Given the description of an element on the screen output the (x, y) to click on. 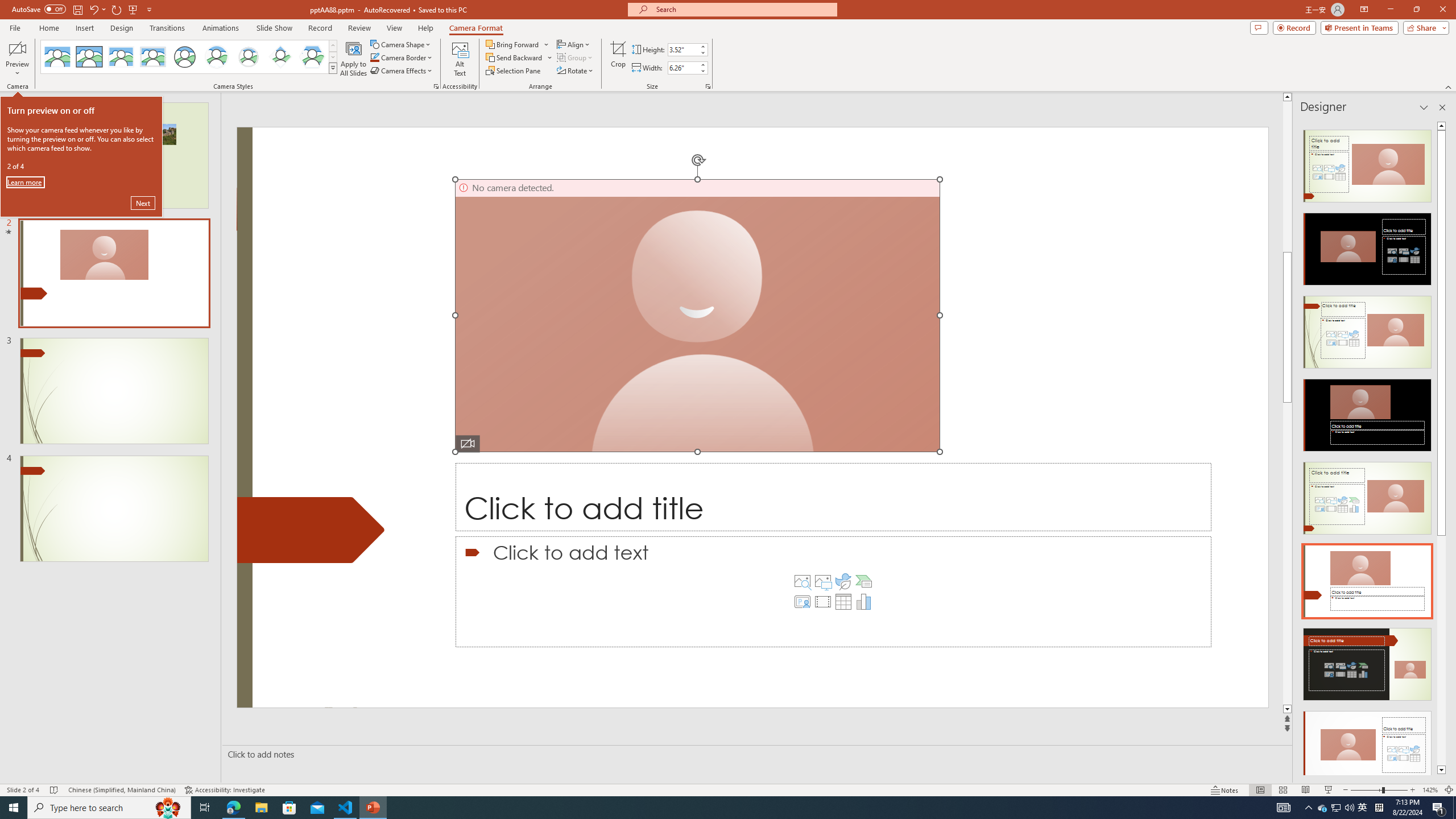
Insert an Icon (843, 581)
Camera Border Teal, Accent 1 (374, 56)
Stock Images (801, 581)
AutomationID: CameoStylesGallery (189, 56)
Next (143, 202)
